Given the description of an element on the screen output the (x, y) to click on. 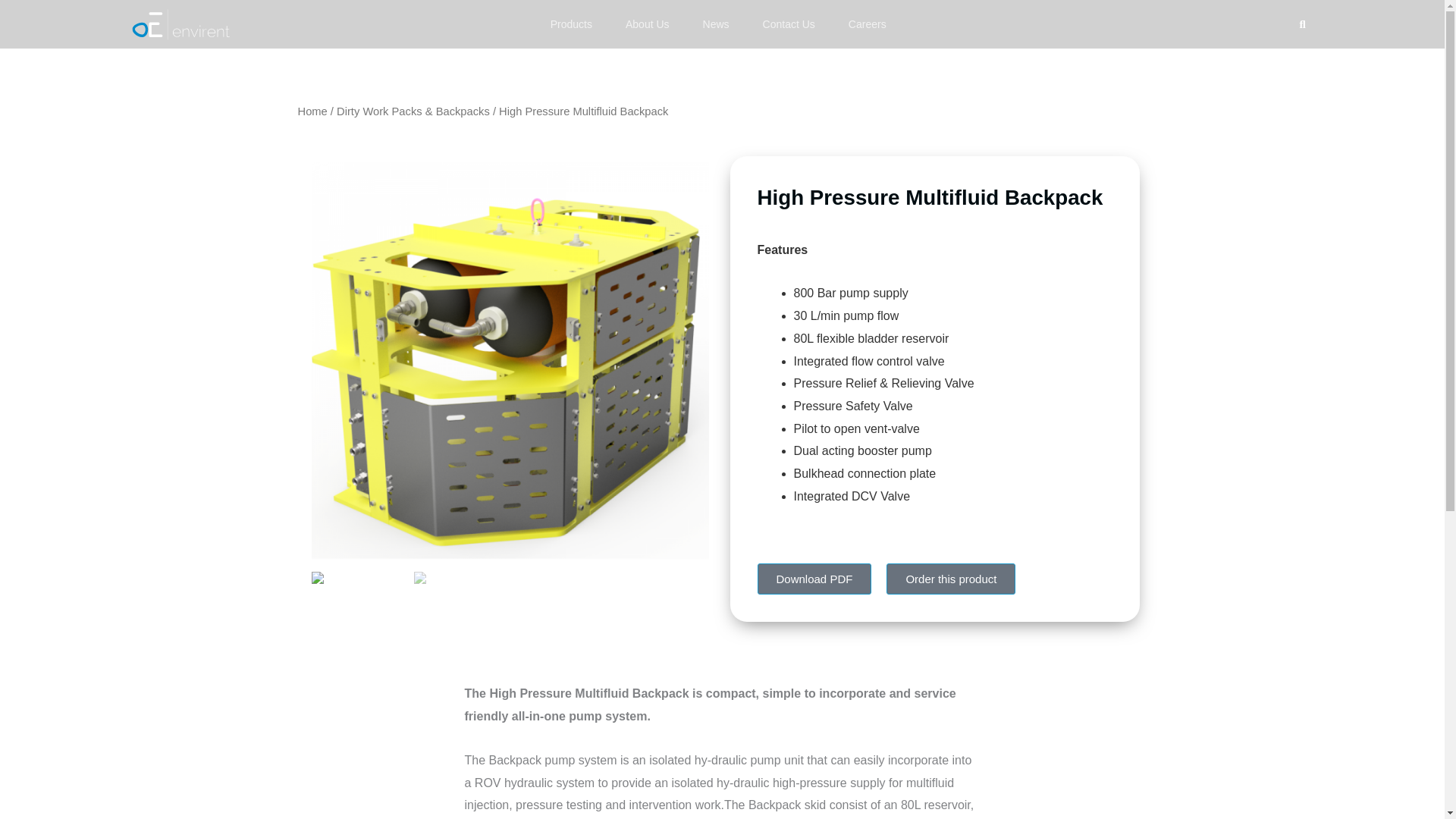
Products (571, 23)
About Us (646, 23)
Download PDF (813, 578)
Search (1297, 24)
Order this product (950, 578)
News (715, 23)
Careers (866, 23)
Contact Us (788, 23)
Home (311, 111)
